Given the description of an element on the screen output the (x, y) to click on. 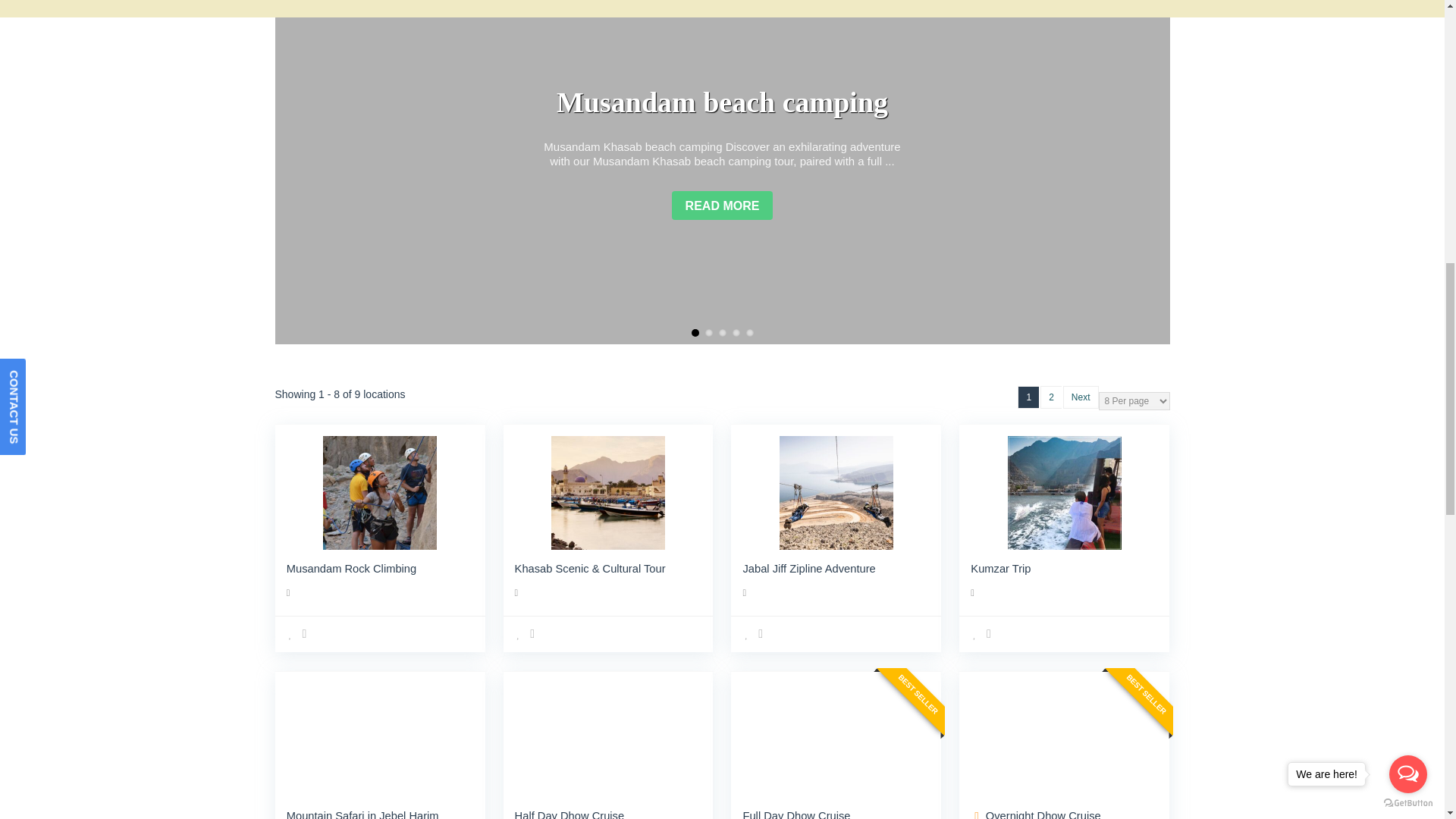
READ MORE (722, 205)
1 (694, 332)
Musandam beach camping (722, 101)
